Given the description of an element on the screen output the (x, y) to click on. 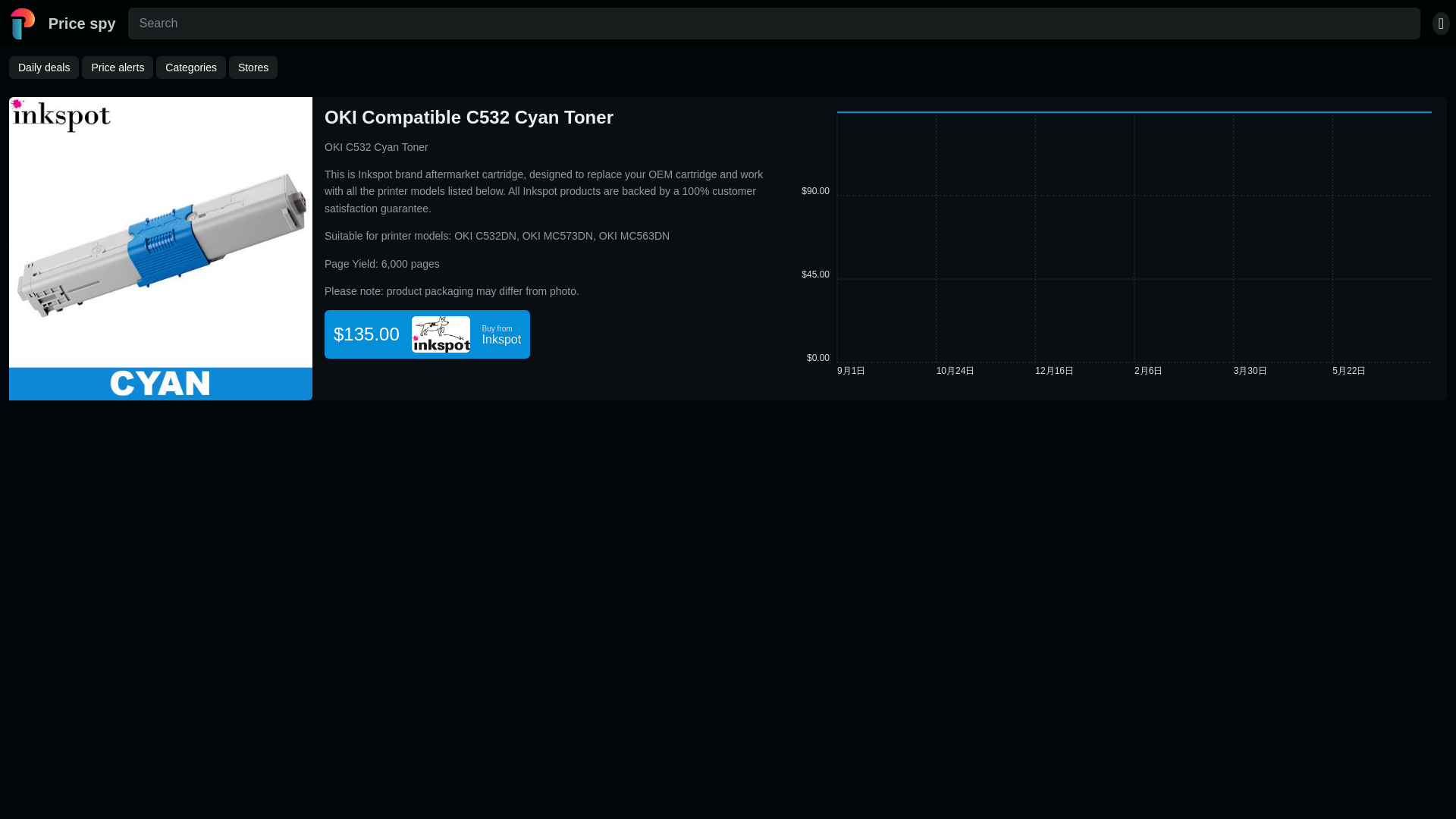
Daily deals (43, 67)
Stores (253, 67)
Price alerts (116, 67)
 Price spy (60, 22)
Categories (190, 67)
